Given the description of an element on the screen output the (x, y) to click on. 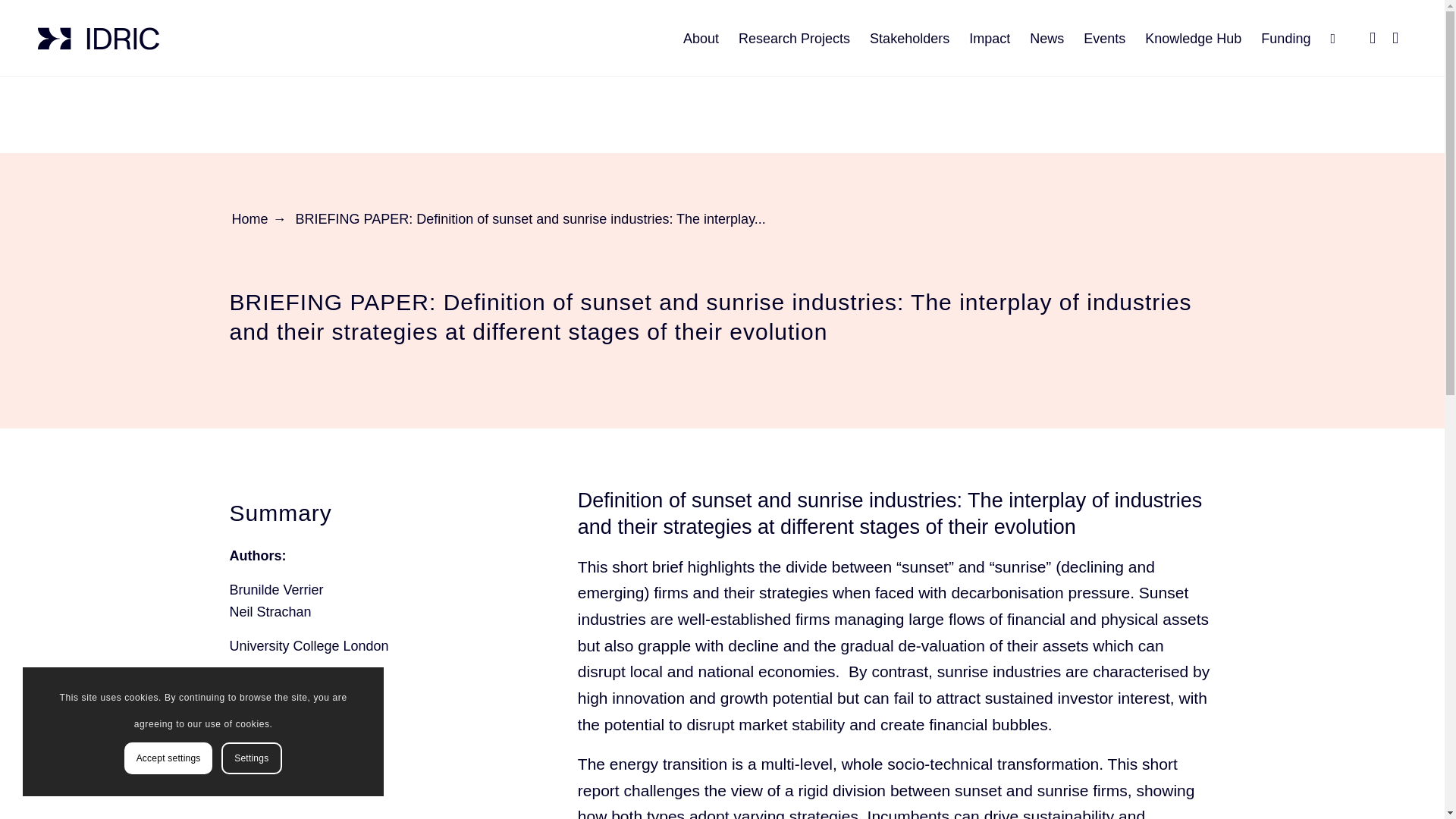
Research Projects (794, 38)
IDRIC (97, 38)
News (1047, 38)
Stakeholders (909, 38)
Impact Areas (989, 38)
Events (1104, 38)
About (700, 38)
Funding (1285, 38)
Research Projects (794, 38)
Impact (989, 38)
Knowledge Hub (1192, 38)
Stakeholders (909, 38)
IDRIC (97, 38)
About (700, 38)
Home (248, 219)
